Given the description of an element on the screen output the (x, y) to click on. 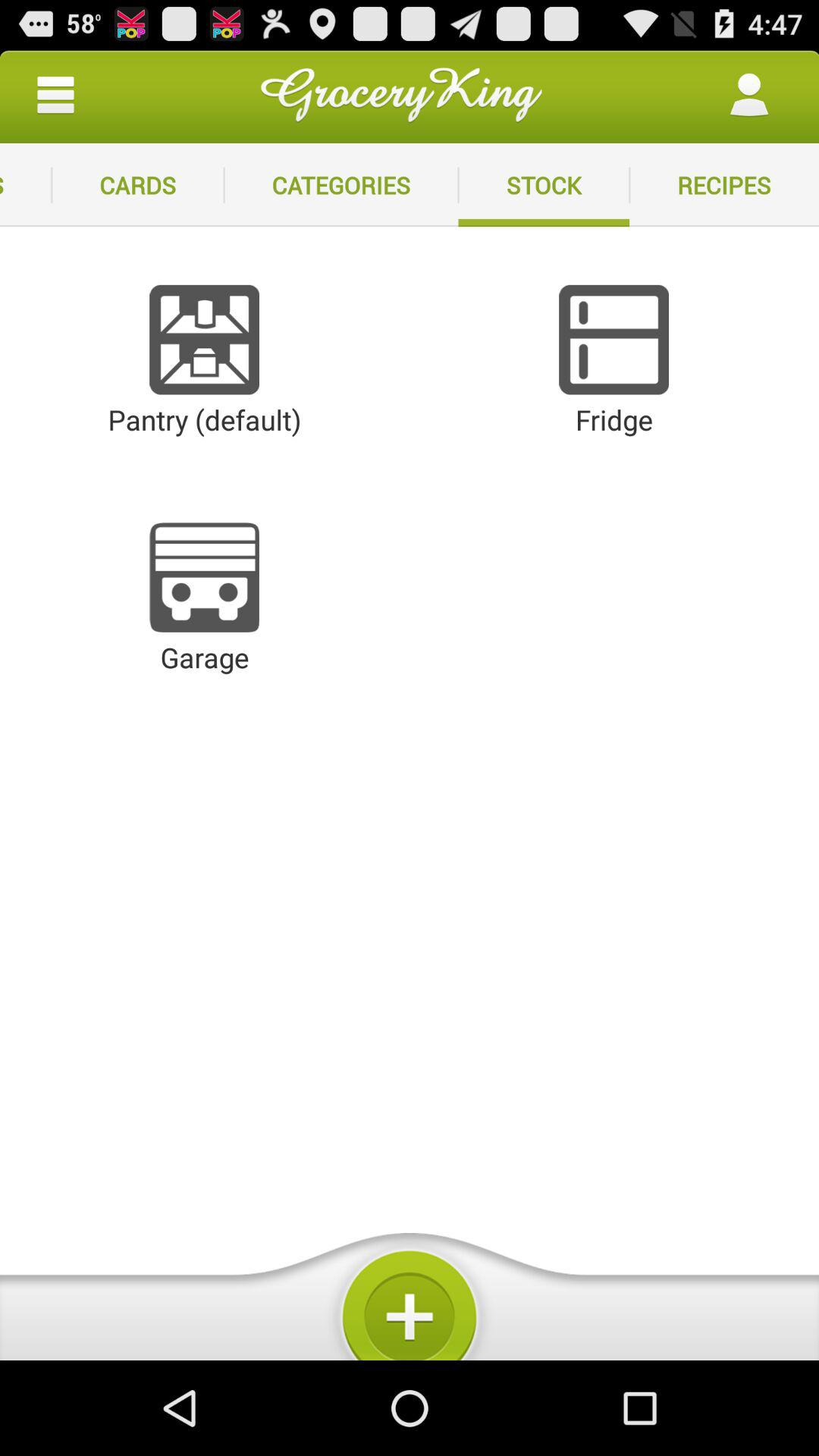
turn off categories app (341, 184)
